Given the description of an element on the screen output the (x, y) to click on. 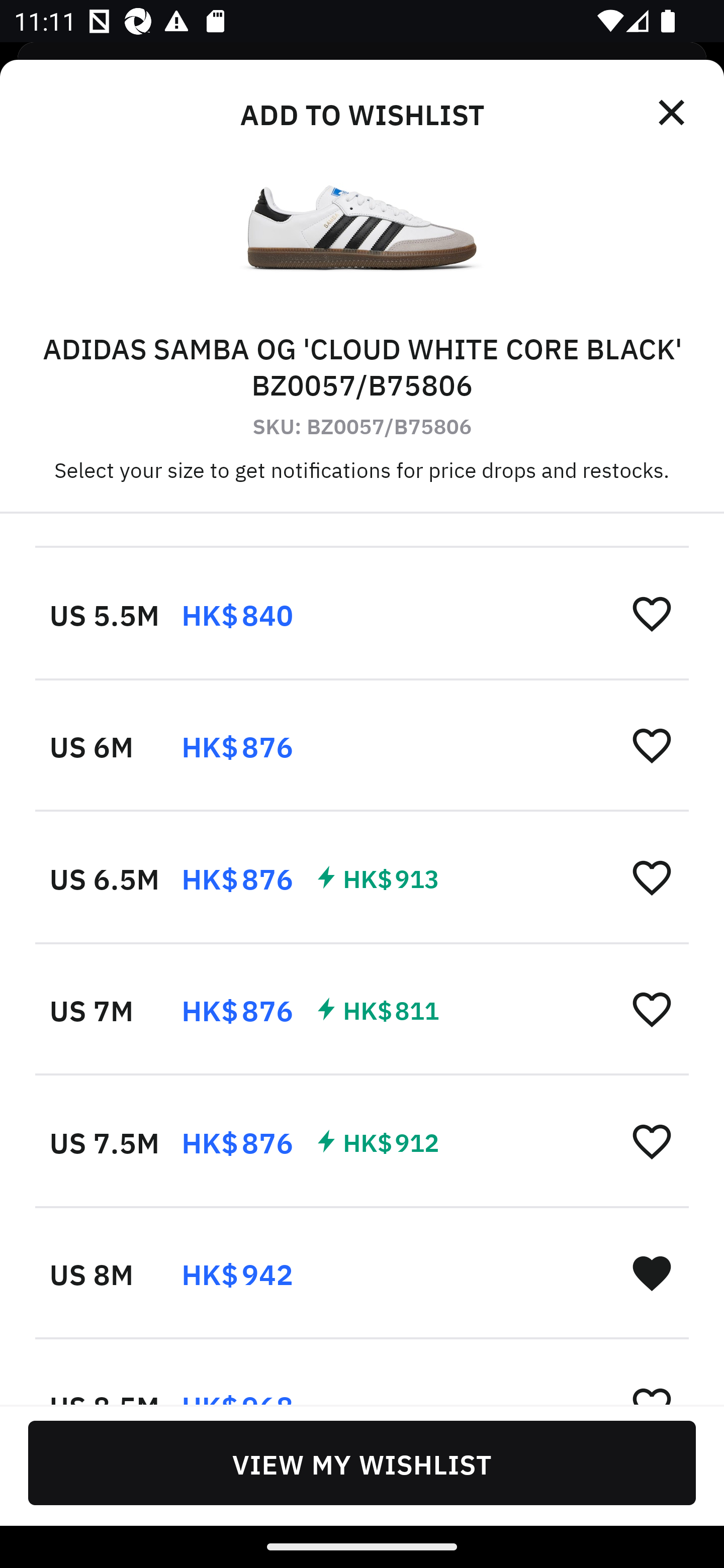
 (672, 112)
󰋕 (651, 613)
󰋕 (651, 745)
󰋕 (651, 877)
󰋕 (651, 1008)
󰋕 (651, 1140)
󰋑 (651, 1272)
VIEW MY WISHLIST (361, 1462)
